Given the description of an element on the screen output the (x, y) to click on. 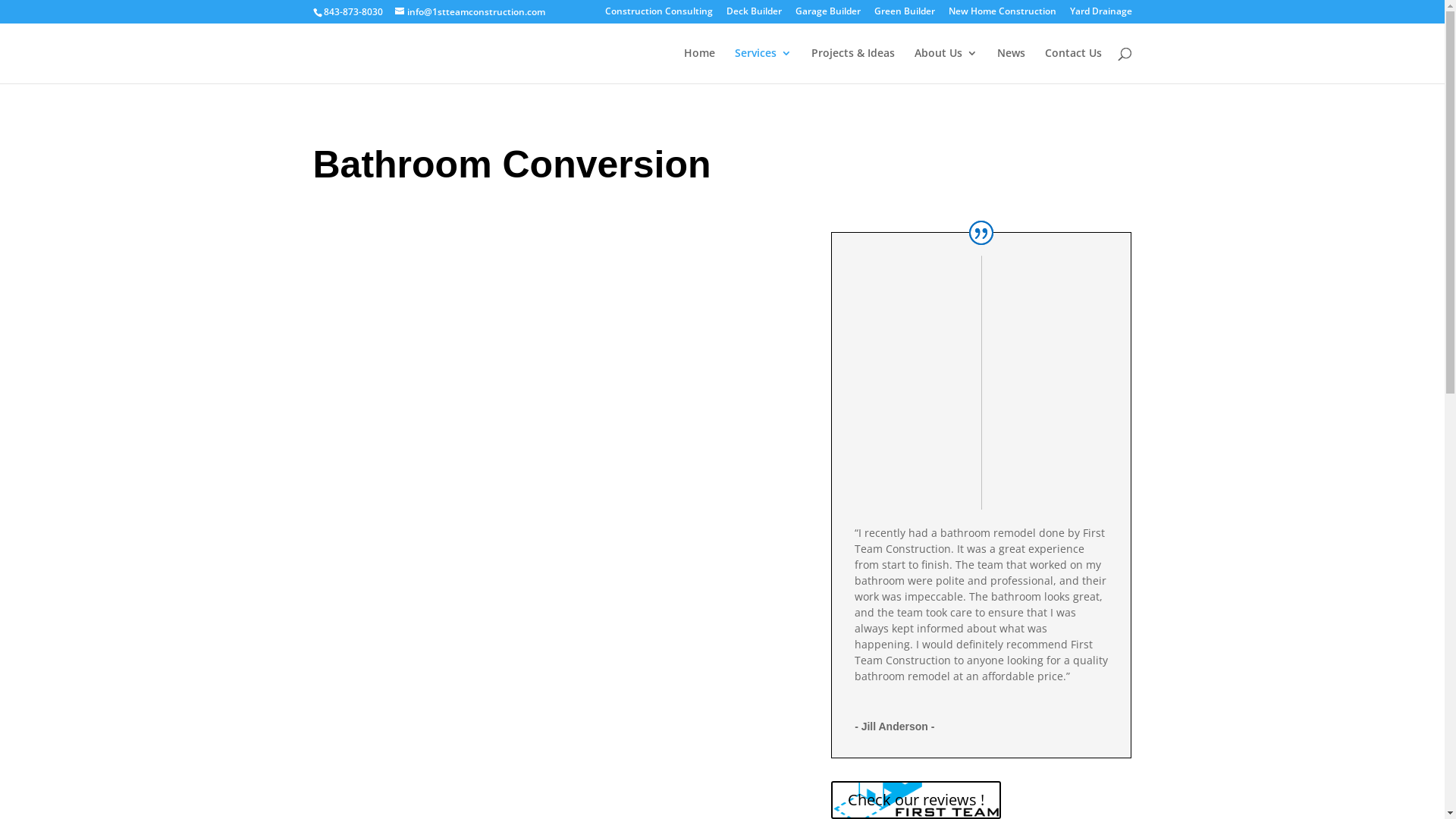
News Element type: text (1010, 65)
info@1stteamconstruction.com Element type: text (469, 11)
About Us Element type: text (945, 65)
Deck Builder Element type: text (753, 14)
Yard Drainage Element type: text (1100, 14)
Green Builder Element type: text (903, 14)
Home Element type: text (699, 65)
Bathroom 3 Element type: hover (548, 389)
Construction Consulting Element type: text (658, 14)
Contact Us Element type: text (1072, 65)
New Home Construction Element type: text (1001, 14)
Services Element type: text (762, 65)
Projects & Ideas Element type: text (852, 65)
Garage Builder Element type: text (826, 14)
